Given the description of an element on the screen output the (x, y) to click on. 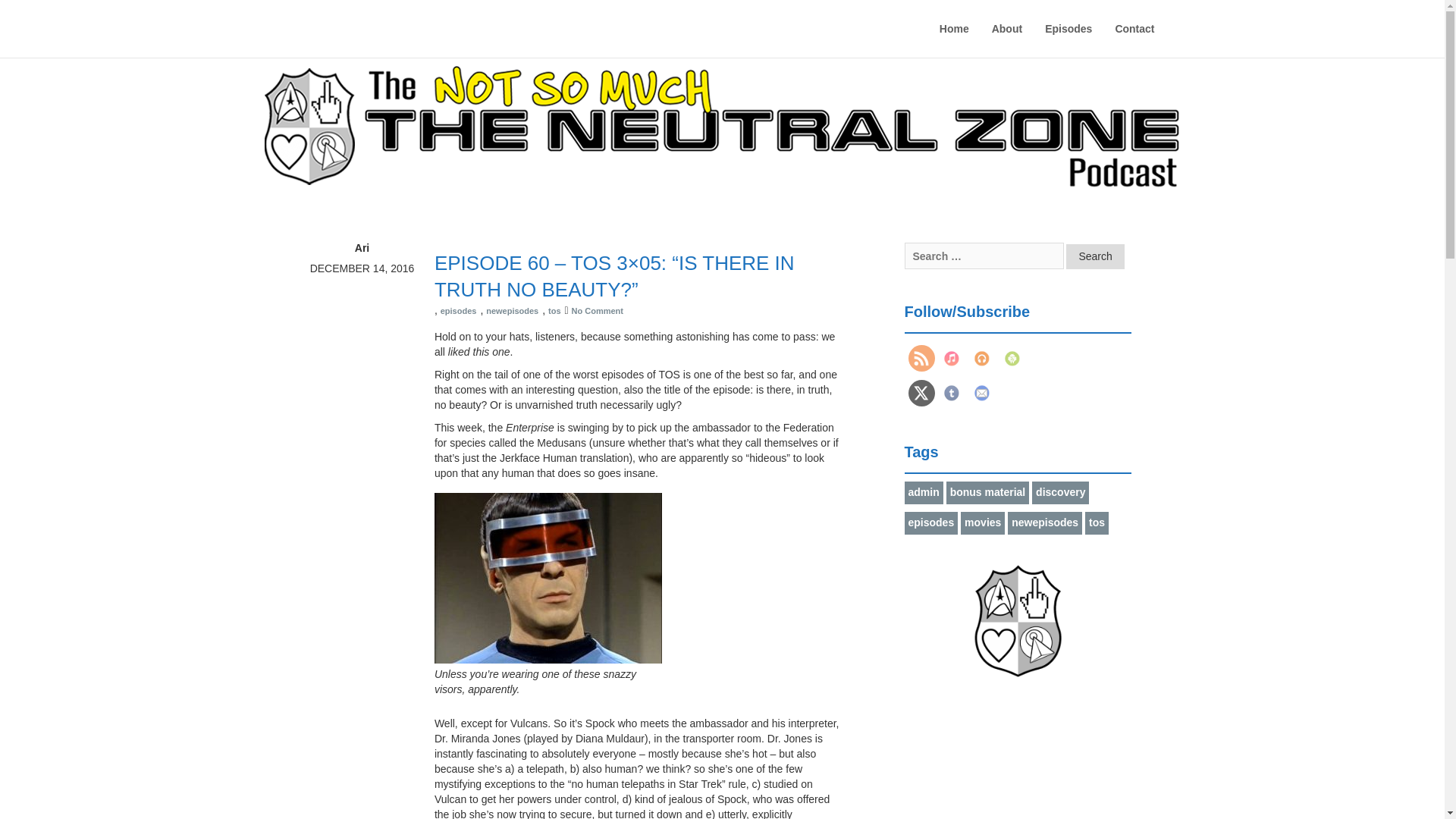
Search (1094, 257)
Episodes (1068, 28)
Twitter (921, 392)
Home (953, 28)
About (1006, 28)
No Comment (597, 310)
tos (554, 310)
newepisodes (512, 310)
Contact (1134, 28)
Contact (1134, 28)
Ari (362, 247)
Search (1094, 257)
Subscribe on Google Play Music (981, 358)
Subscribe on iTunes (950, 358)
About (1006, 28)
